Given the description of an element on the screen output the (x, y) to click on. 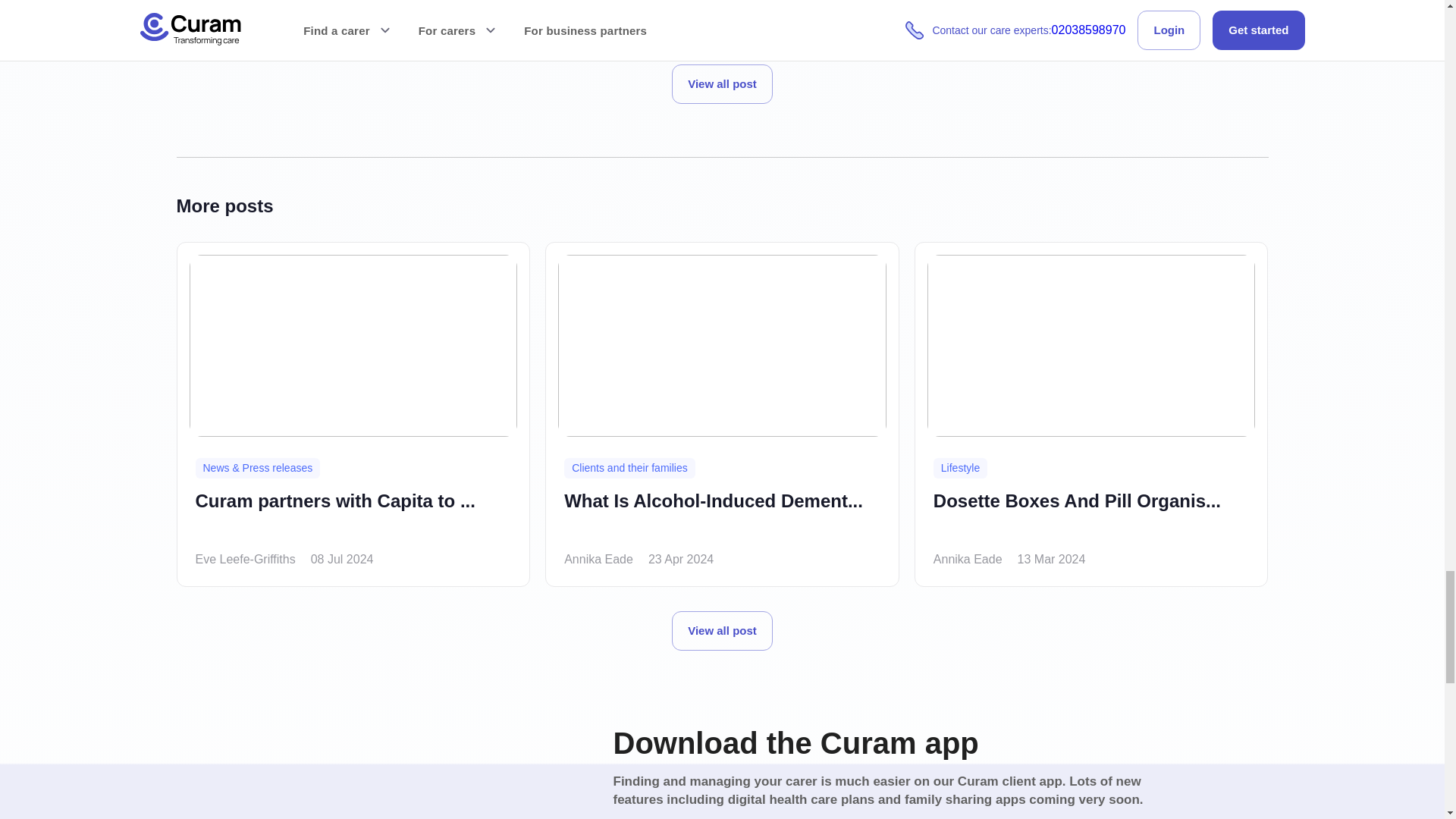
Curam partners with Capita to expand care solution (335, 513)
What Is Alcohol-Induced Dementia? (713, 513)
Everything You Need To Know About Curam (877, 13)
Dosette Boxes And Pill Organisers (1077, 513)
How To Use The Curam Platform To Find Clients (566, 13)
